Given the description of an element on the screen output the (x, y) to click on. 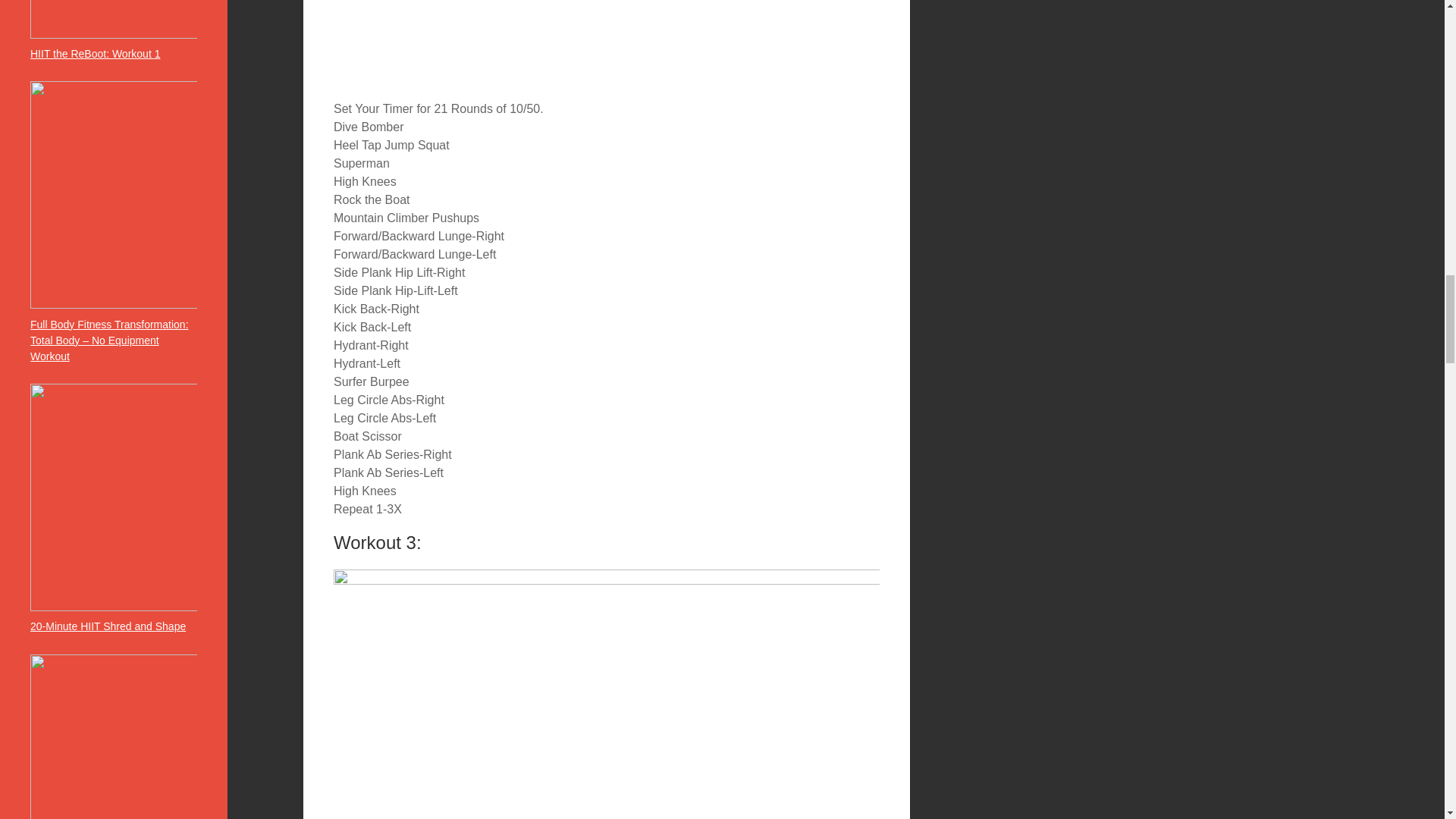
21 Minute Total Body-Fat Burning Workout-No Equipment (606, 42)
20-Minute HIIT Shred and Shape (108, 625)
HIIT the ReBoot: Workout 1 (95, 53)
